Given the description of an element on the screen output the (x, y) to click on. 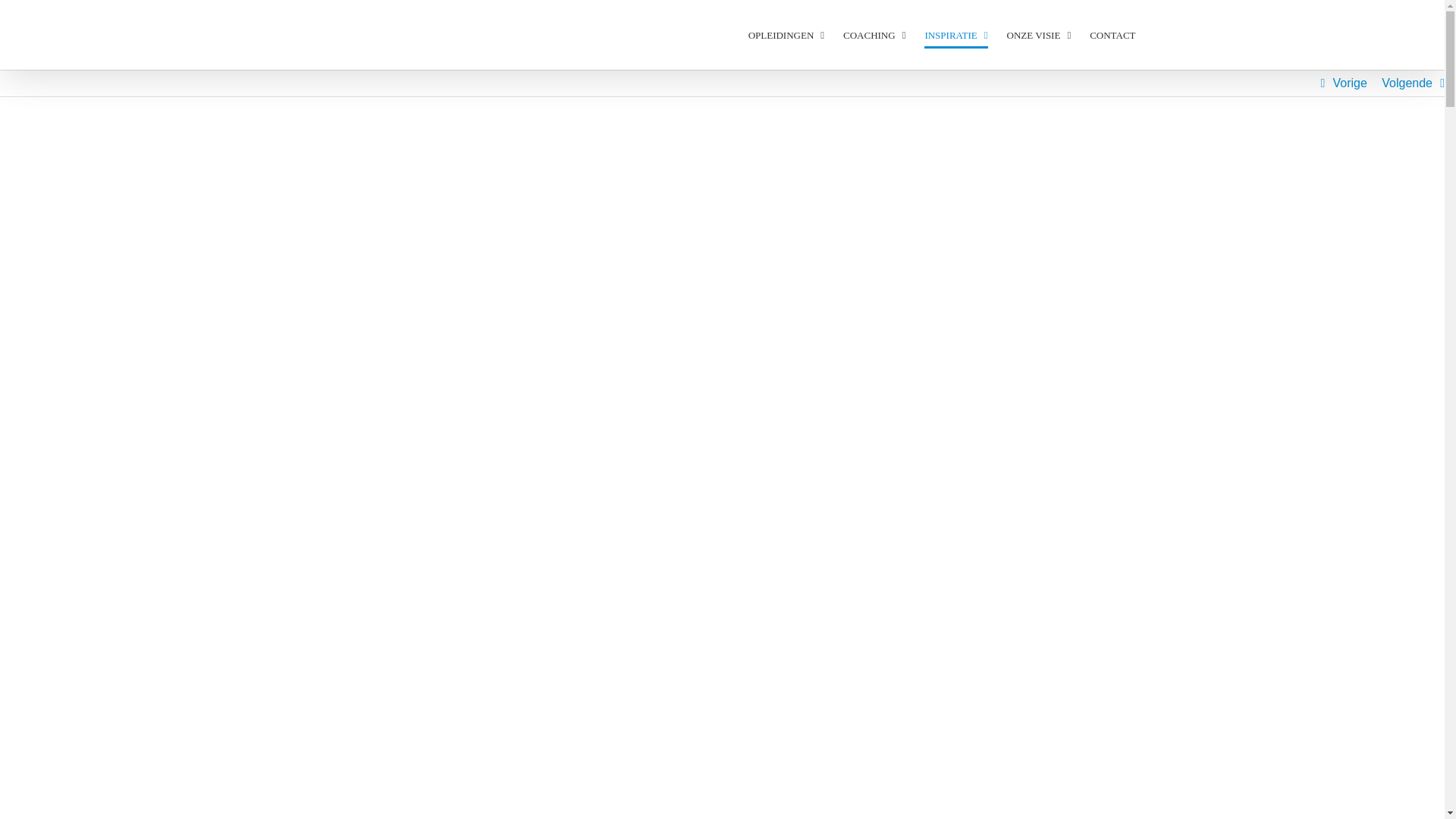
Vorige Element type: text (1349, 83)
Volgende Element type: text (1406, 83)
ONZE VISIE Element type: text (1039, 34)
CONTACT Element type: text (1112, 34)
COACHING Element type: text (874, 34)
OPLEIDINGEN Element type: text (786, 34)
INSPIRATIE Element type: text (955, 34)
